Given the description of an element on the screen output the (x, y) to click on. 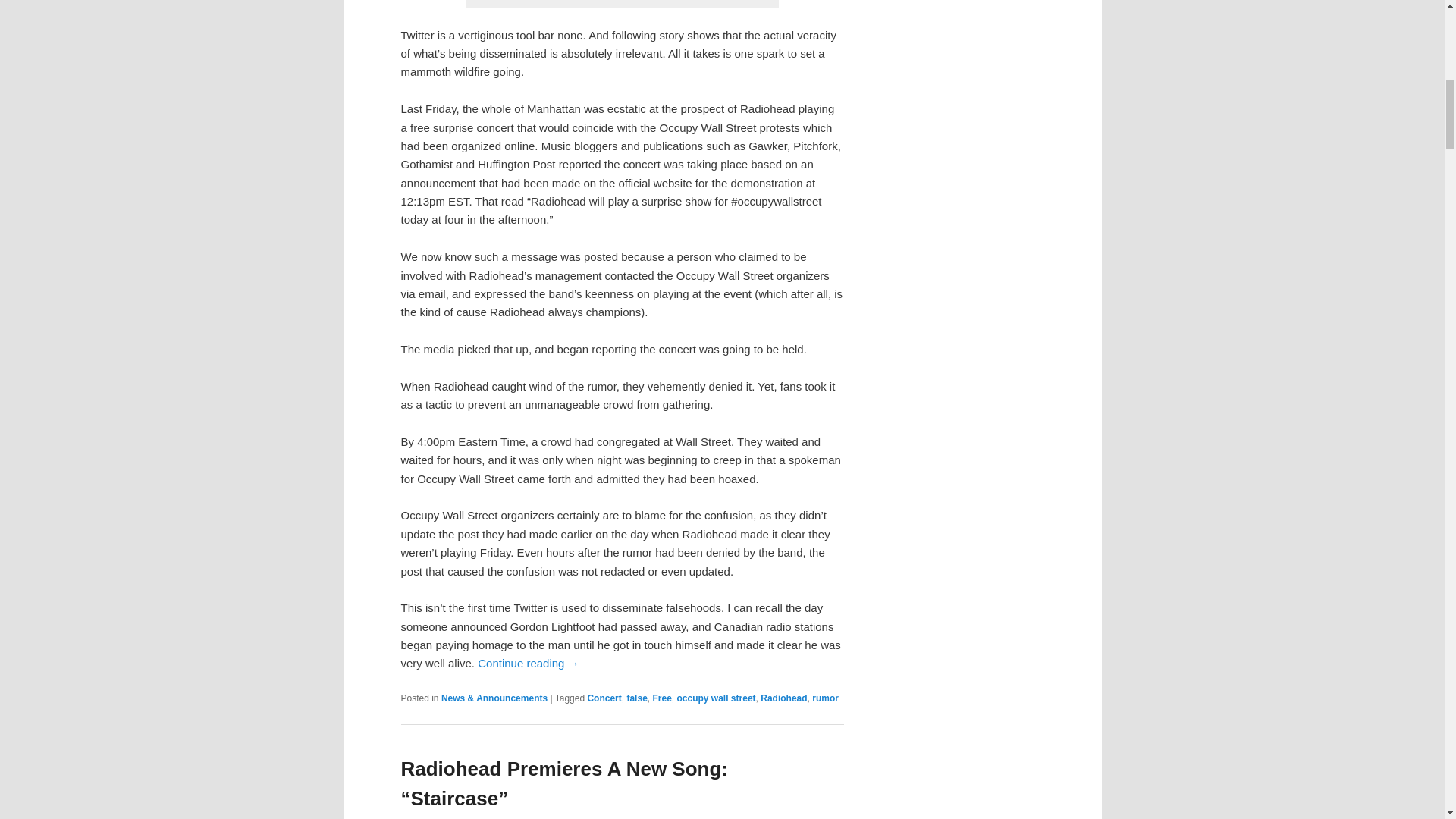
rumor (825, 697)
occupy wall street (716, 697)
Concert (603, 697)
false (636, 697)
Radiohead (783, 697)
Free (661, 697)
